Given the description of an element on the screen output the (x, y) to click on. 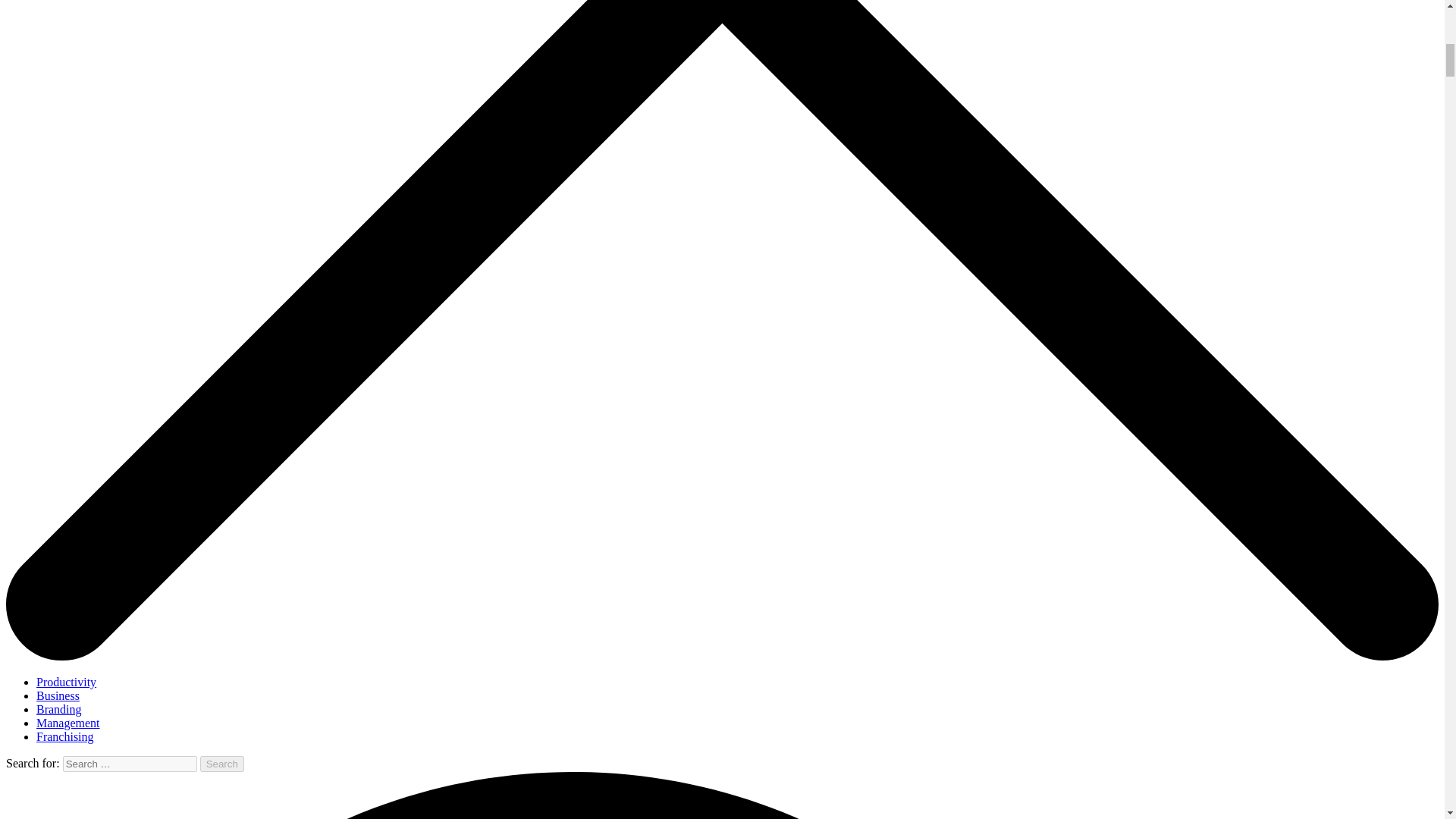
Business (58, 695)
Management (68, 722)
Search (222, 763)
Productivity (66, 681)
Branding (58, 708)
Search (222, 763)
Franchising (65, 736)
Search (222, 763)
